Given the description of an element on the screen output the (x, y) to click on. 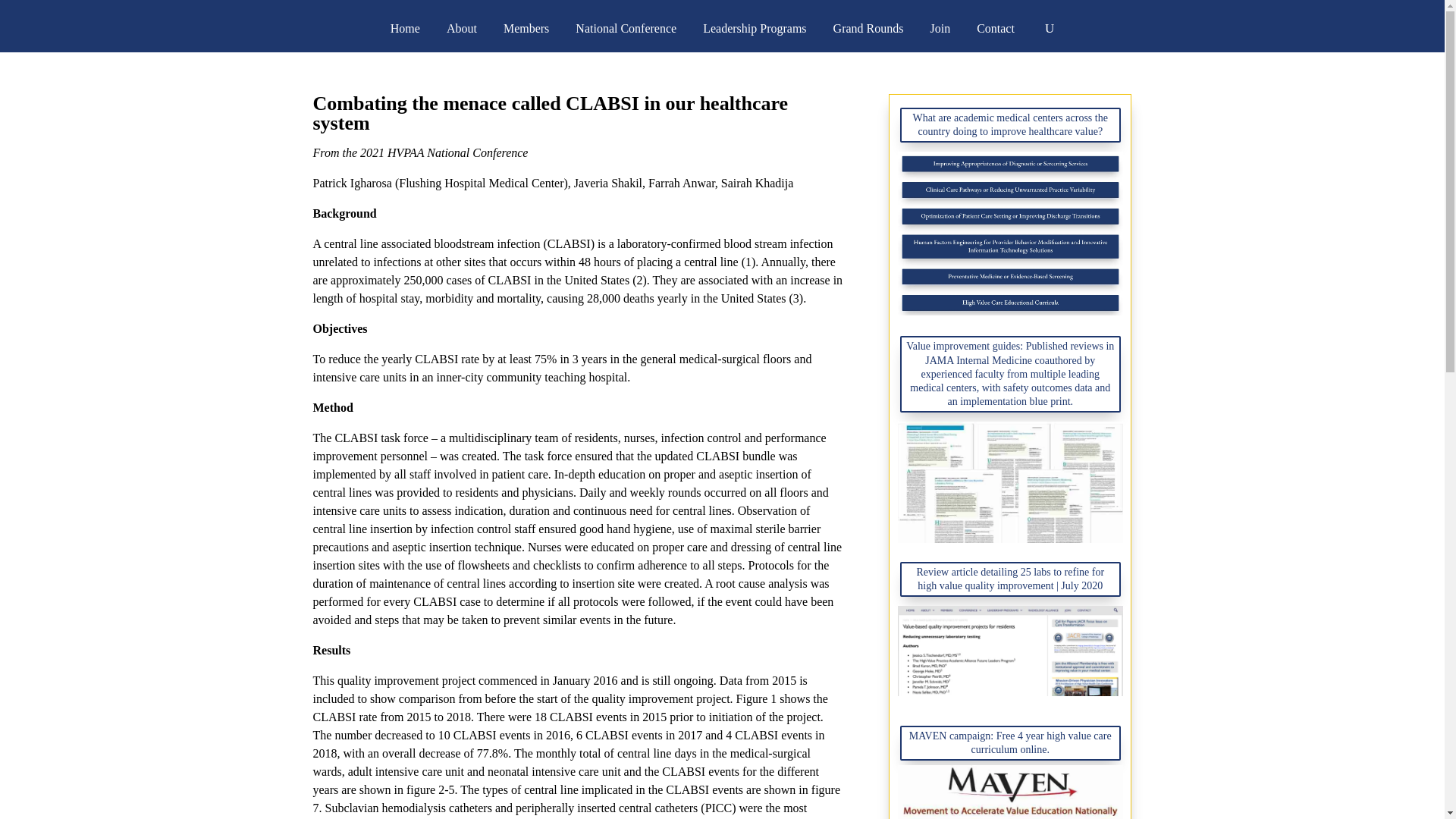
About (461, 28)
Contact (995, 28)
Leadership Programs (754, 28)
Home (405, 28)
National Conference (626, 28)
Grand Rounds (868, 28)
Members (525, 28)
